Given the description of an element on the screen output the (x, y) to click on. 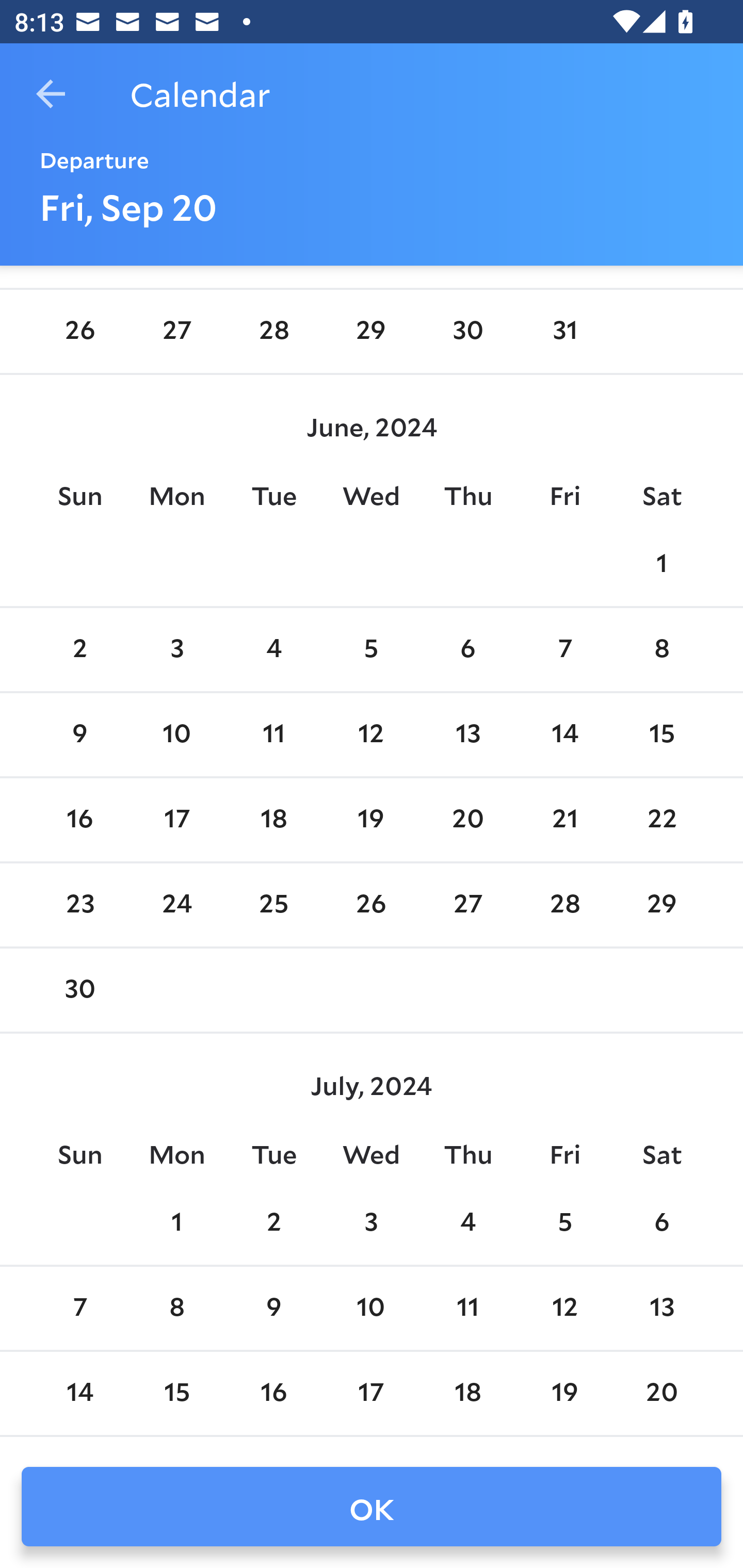
Navigate up (50, 93)
26 (79, 331)
27 (177, 331)
28 (273, 331)
29 (371, 331)
30 (467, 331)
31 (565, 331)
1 (661, 564)
2 (79, 649)
3 (177, 649)
4 (273, 649)
5 (371, 649)
6 (467, 649)
7 (565, 649)
8 (661, 649)
9 (79, 735)
10 (177, 735)
11 (273, 735)
12 (371, 735)
13 (467, 735)
14 (565, 735)
15 (661, 735)
16 (79, 820)
17 (177, 820)
18 (273, 820)
19 (371, 820)
20 (467, 820)
21 (565, 820)
22 (661, 820)
23 (79, 904)
24 (177, 904)
25 (273, 904)
26 (371, 904)
27 (467, 904)
28 (565, 904)
29 (661, 904)
30 (79, 990)
1 (177, 1222)
2 (273, 1222)
3 (371, 1222)
4 (467, 1222)
5 (565, 1222)
6 (661, 1222)
7 (79, 1309)
8 (177, 1309)
9 (273, 1309)
10 (371, 1309)
11 (467, 1309)
12 (565, 1309)
13 (661, 1309)
